Given the description of an element on the screen output the (x, y) to click on. 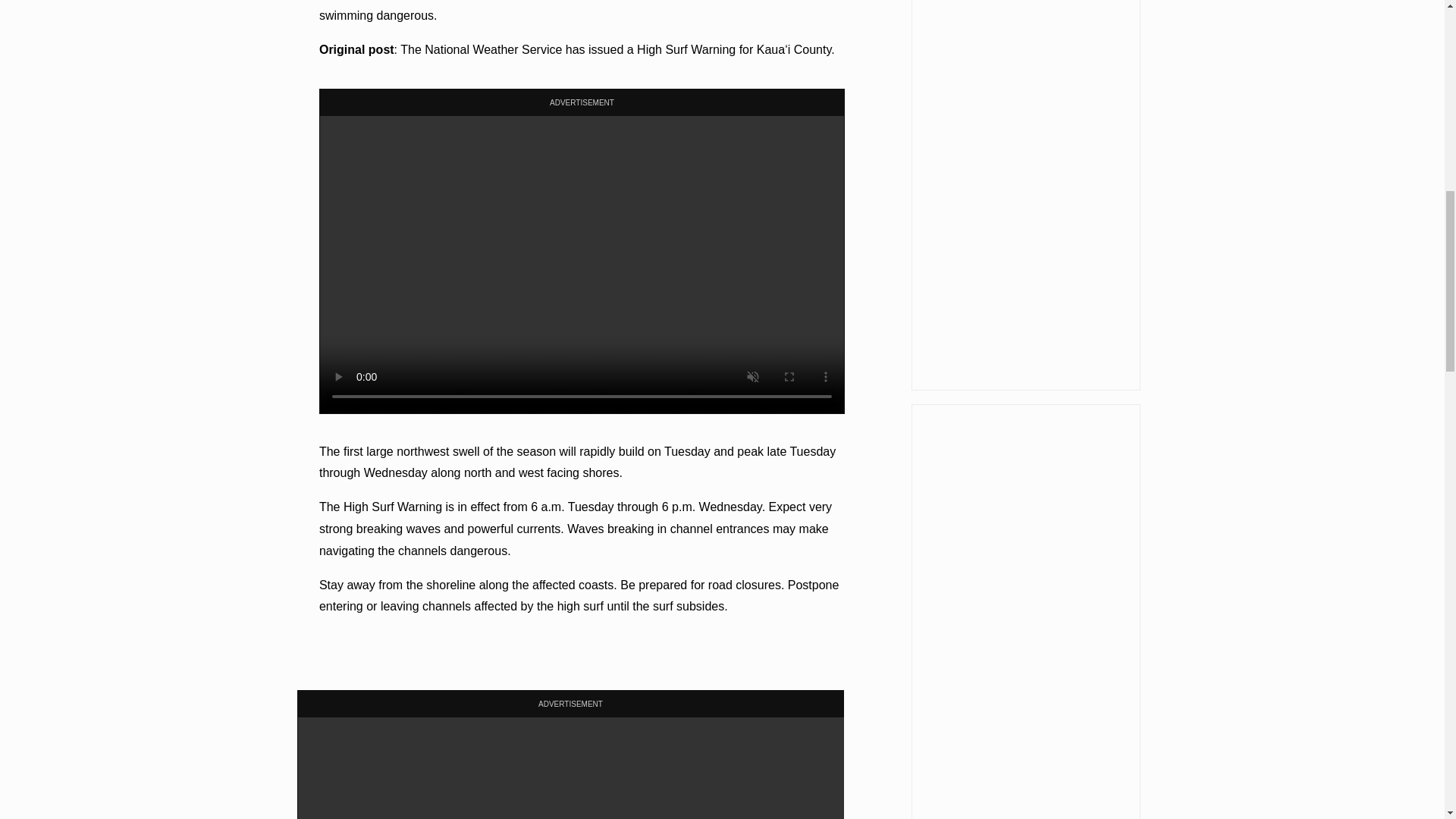
Arrow Up (1404, 15)
